Given the description of an element on the screen output the (x, y) to click on. 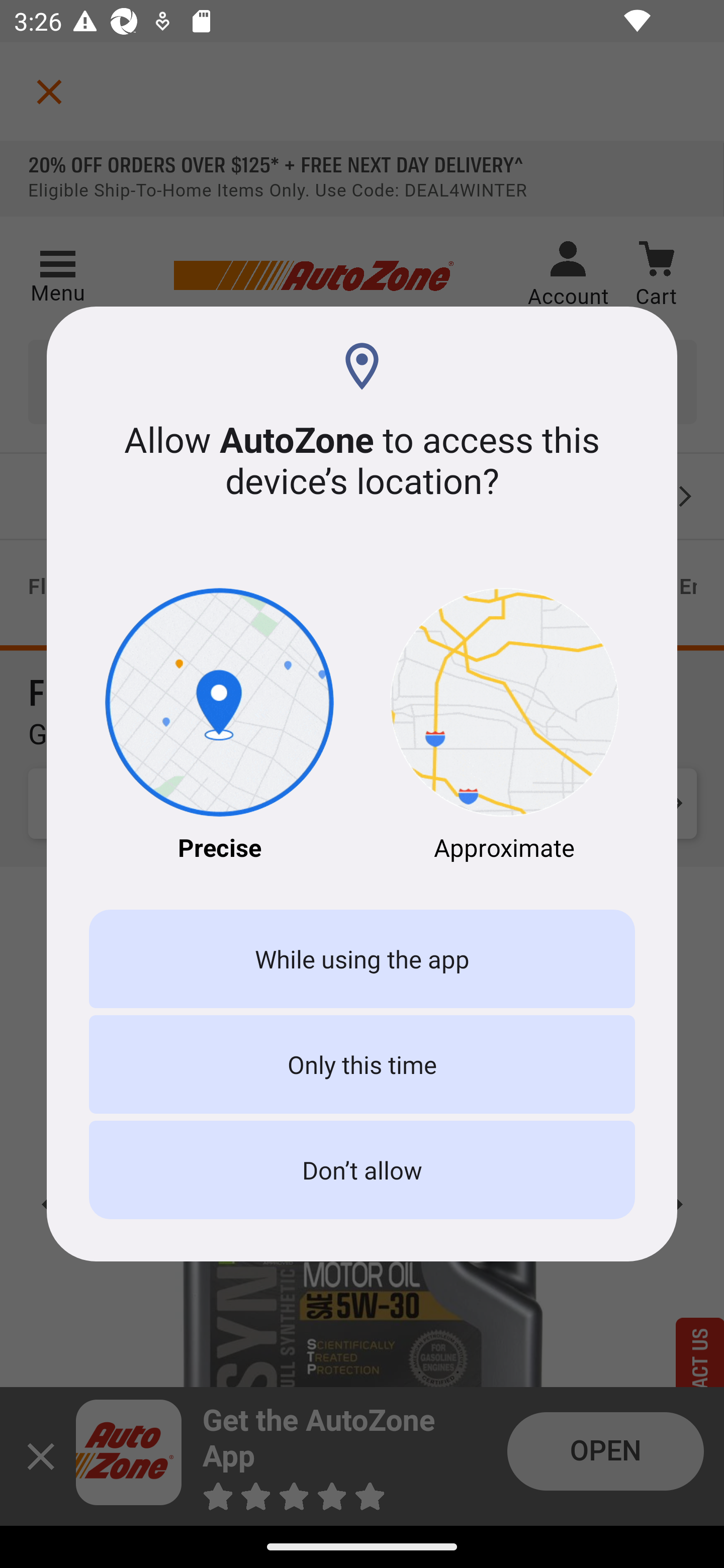
Precise (218, 725)
Approximate (504, 725)
While using the app (361, 958)
Only this time (361, 1063)
Don’t allow (361, 1170)
